Given the description of an element on the screen output the (x, y) to click on. 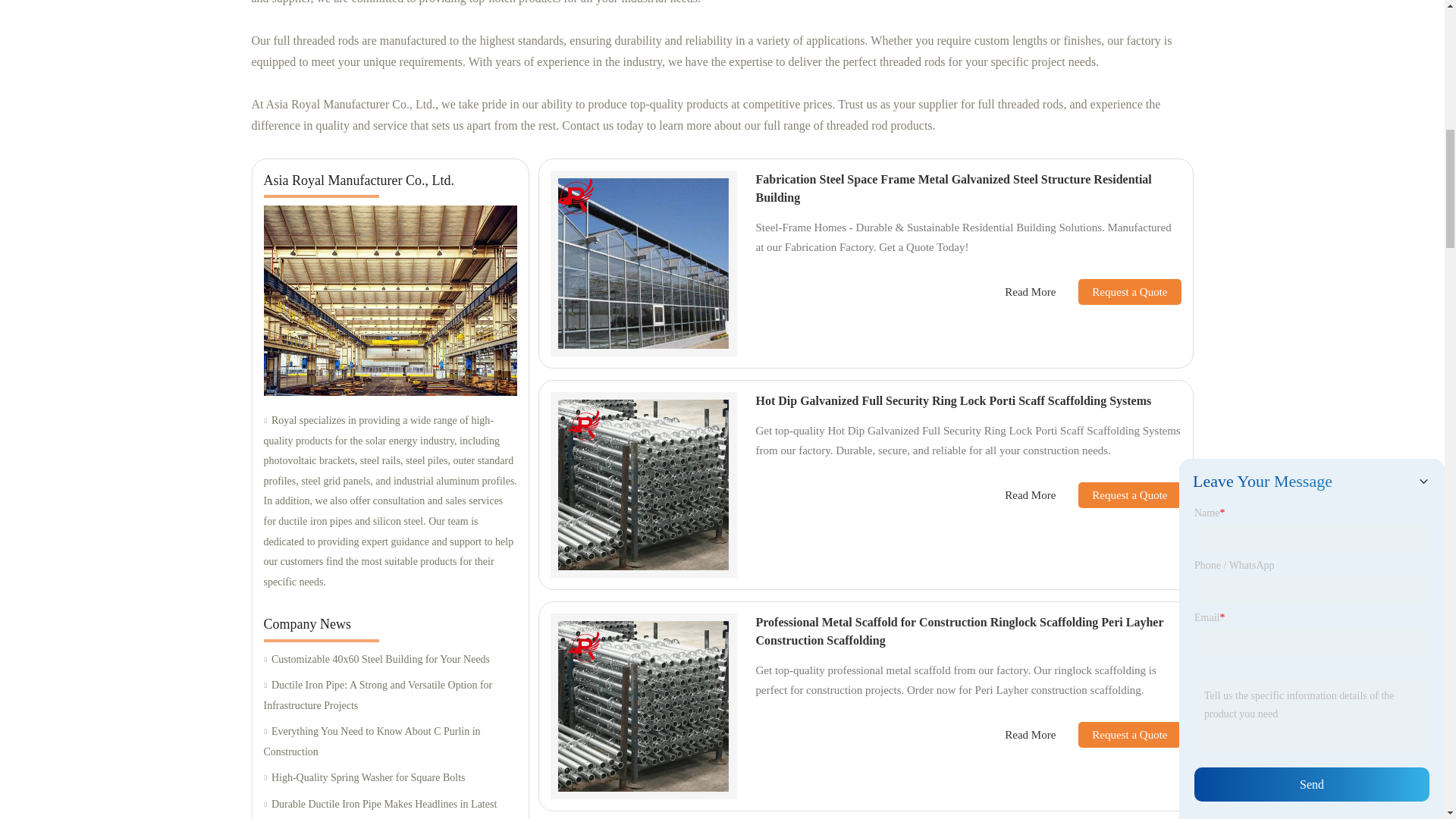
Read More (1029, 292)
Everything You Need to Know About C Purlin in Construction (389, 741)
High-Quality Spring Washer for Square Bolts (389, 778)
Request a Quote (1117, 291)
Customizable 40x60 Steel Building for Your Needs (389, 659)
